Given the description of an element on the screen output the (x, y) to click on. 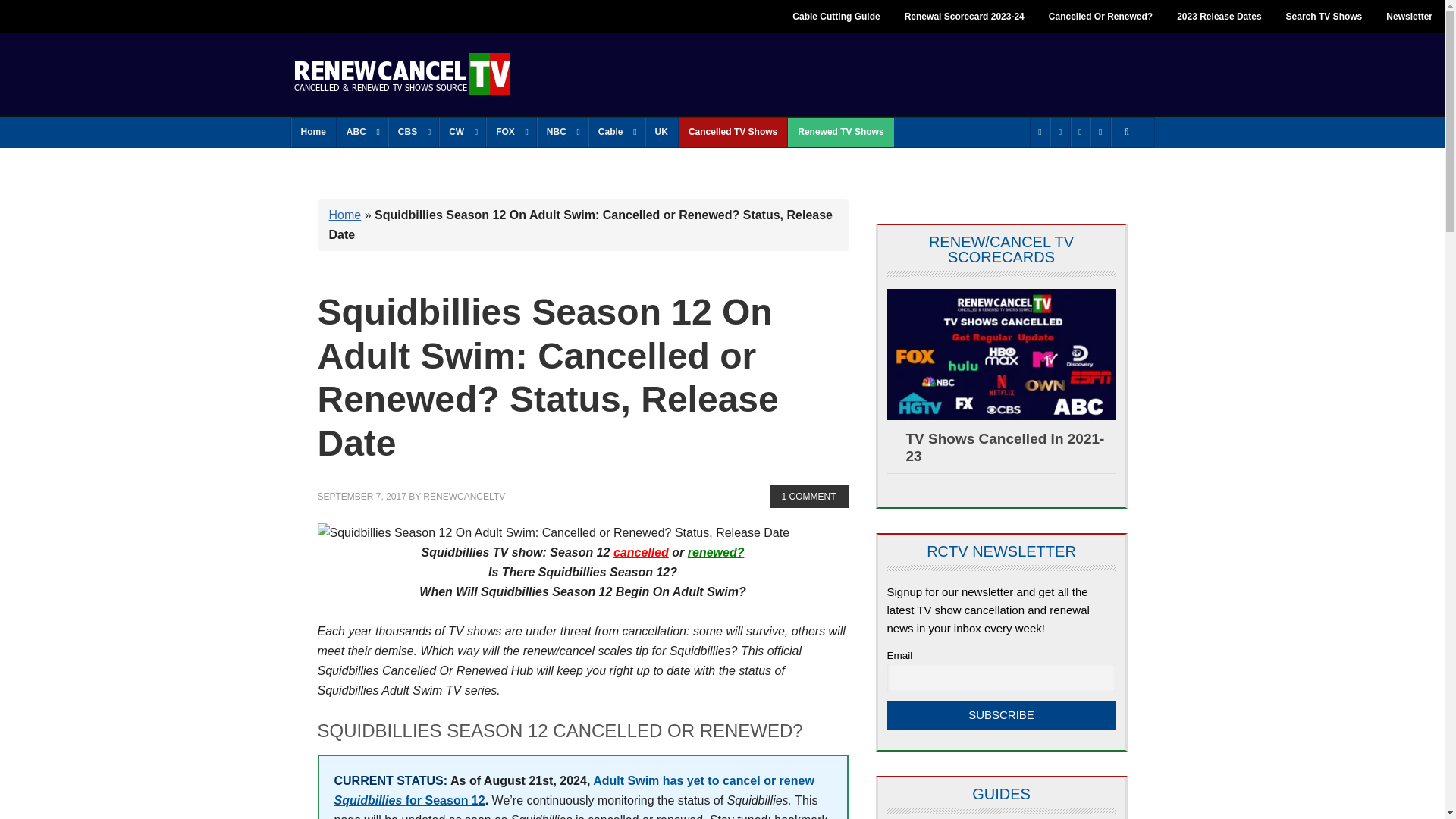
Home (313, 132)
Search TV Shows (1324, 16)
2023 Release Dates (1218, 16)
Renewal Scorecard 2023-24 (964, 16)
Cancelled Or Renewed? (1100, 16)
RENEWCANCELTV (401, 73)
CBS (412, 132)
Cable Cutting Guide (835, 16)
ABC (361, 132)
Subscribe (1001, 715)
